Given the description of an element on the screen output the (x, y) to click on. 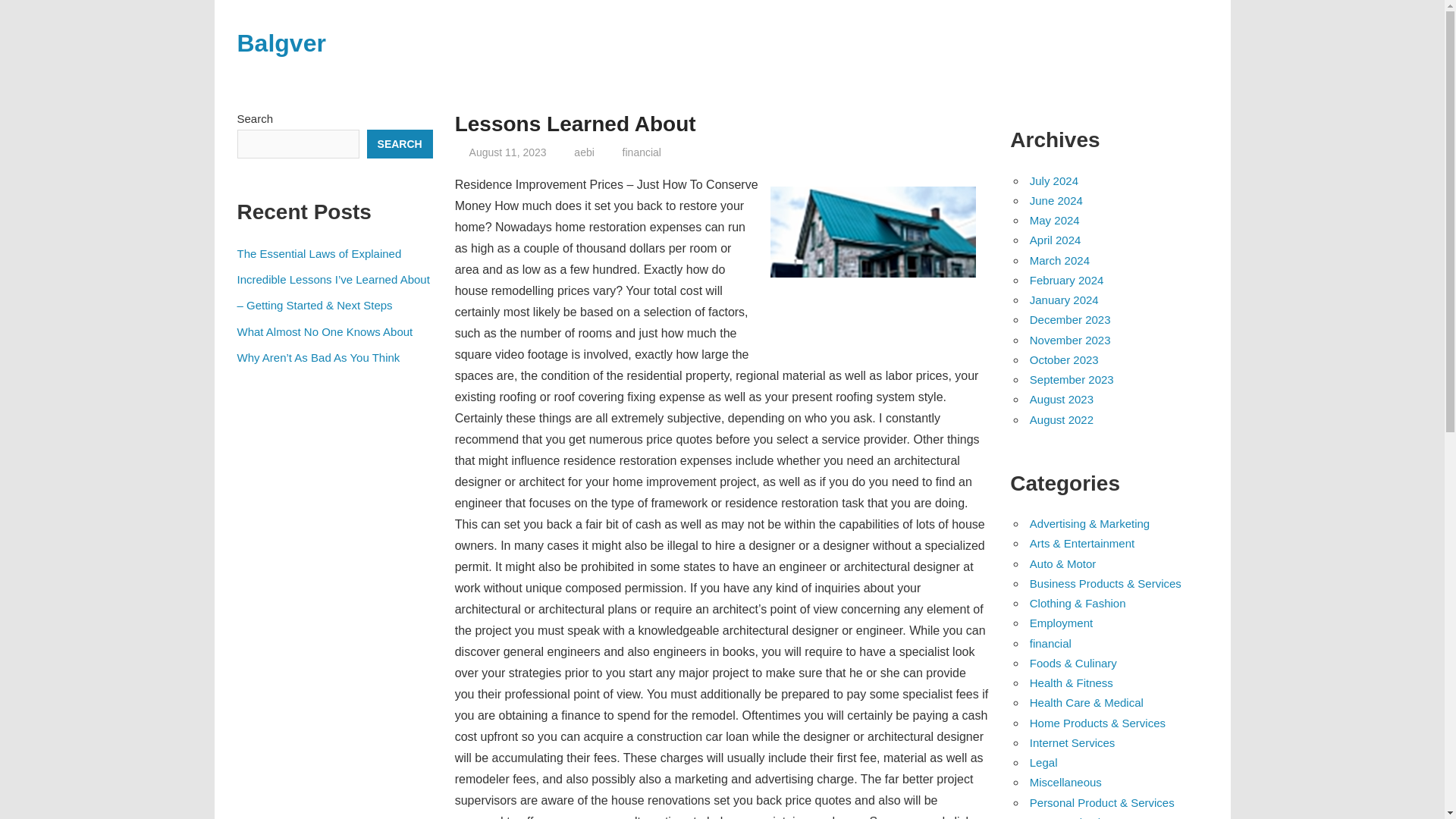
4:30 am (507, 152)
The Essential Laws of Explained (318, 253)
August 2023 (1061, 399)
February 2024 (1066, 279)
December 2023 (1069, 318)
financial (1050, 643)
Balgver (279, 42)
Internet Services (1072, 742)
March 2024 (1059, 259)
August 2022 (1061, 419)
financial (642, 152)
August 11, 2023 (507, 152)
April 2024 (1055, 239)
January 2024 (1064, 299)
SEARCH (399, 143)
